Given the description of an element on the screen output the (x, y) to click on. 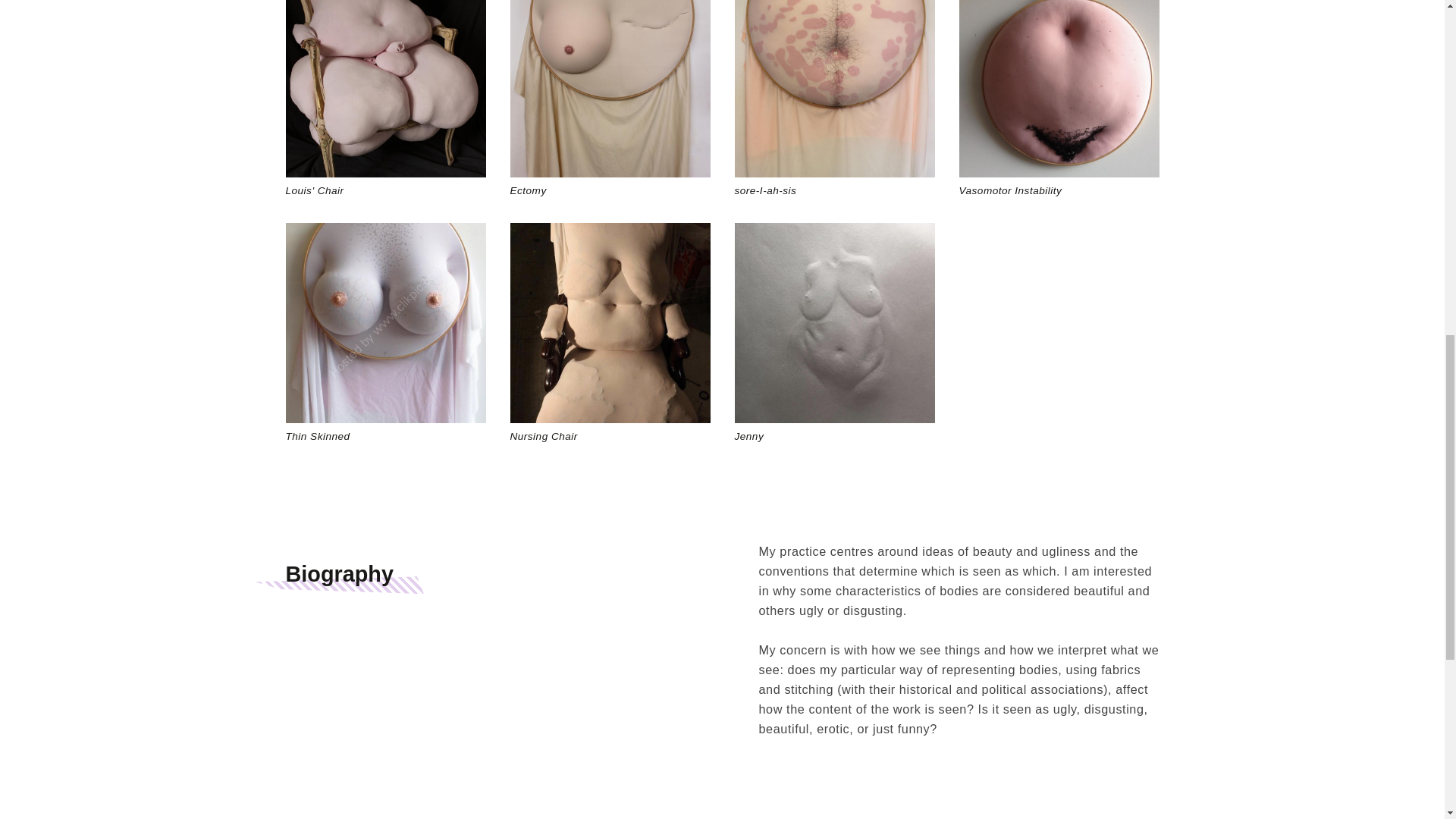
sore-I-ah-sis (833, 99)
Jenny (833, 333)
Nursing Chair (609, 333)
Vasomotor Instability (1058, 99)
Louis' Chair (384, 99)
Thin Skinned (384, 333)
Ectomy (609, 99)
